Given the description of an element on the screen output the (x, y) to click on. 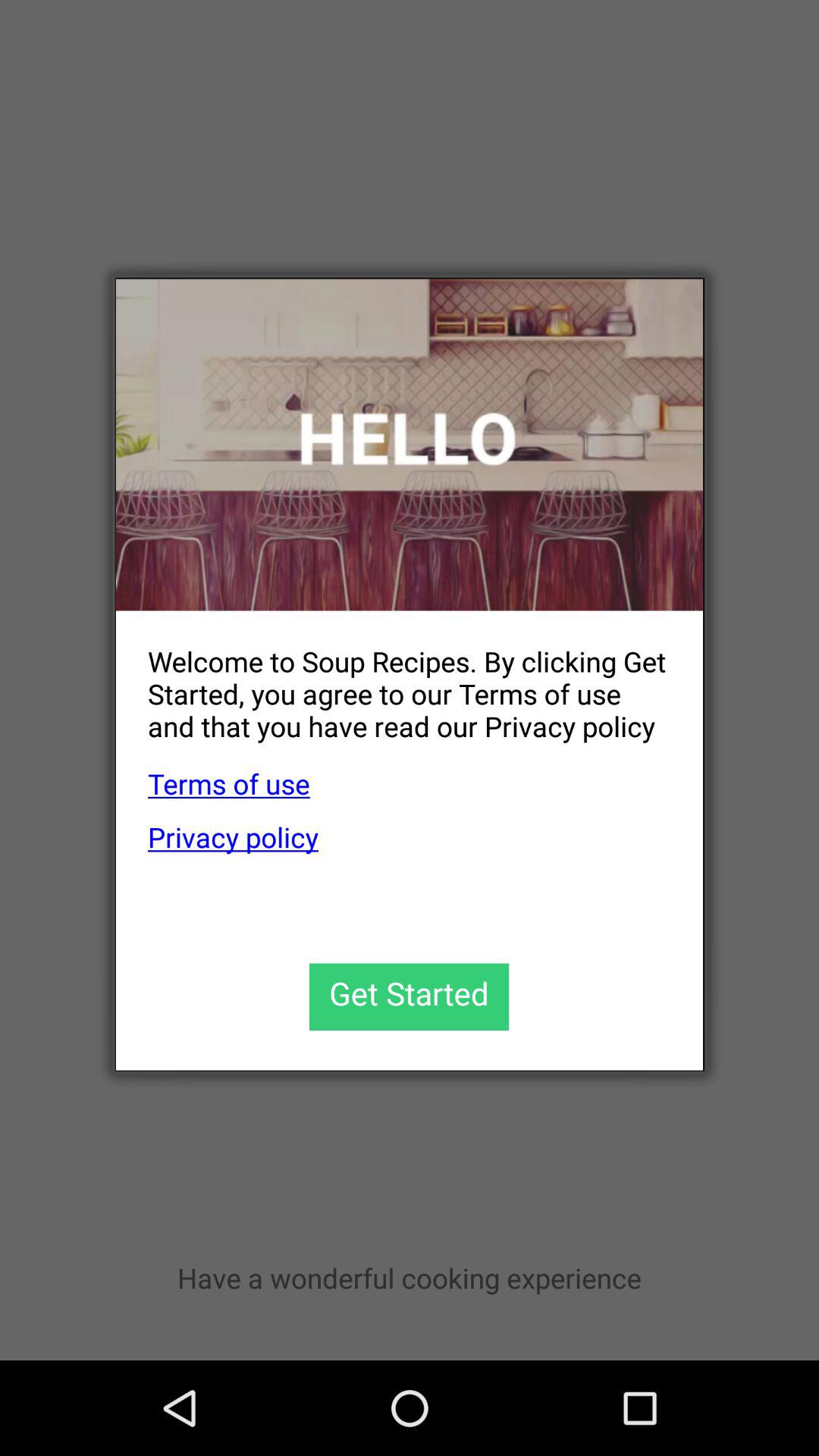
press the item above terms of use (393, 681)
